Given the description of an element on the screen output the (x, y) to click on. 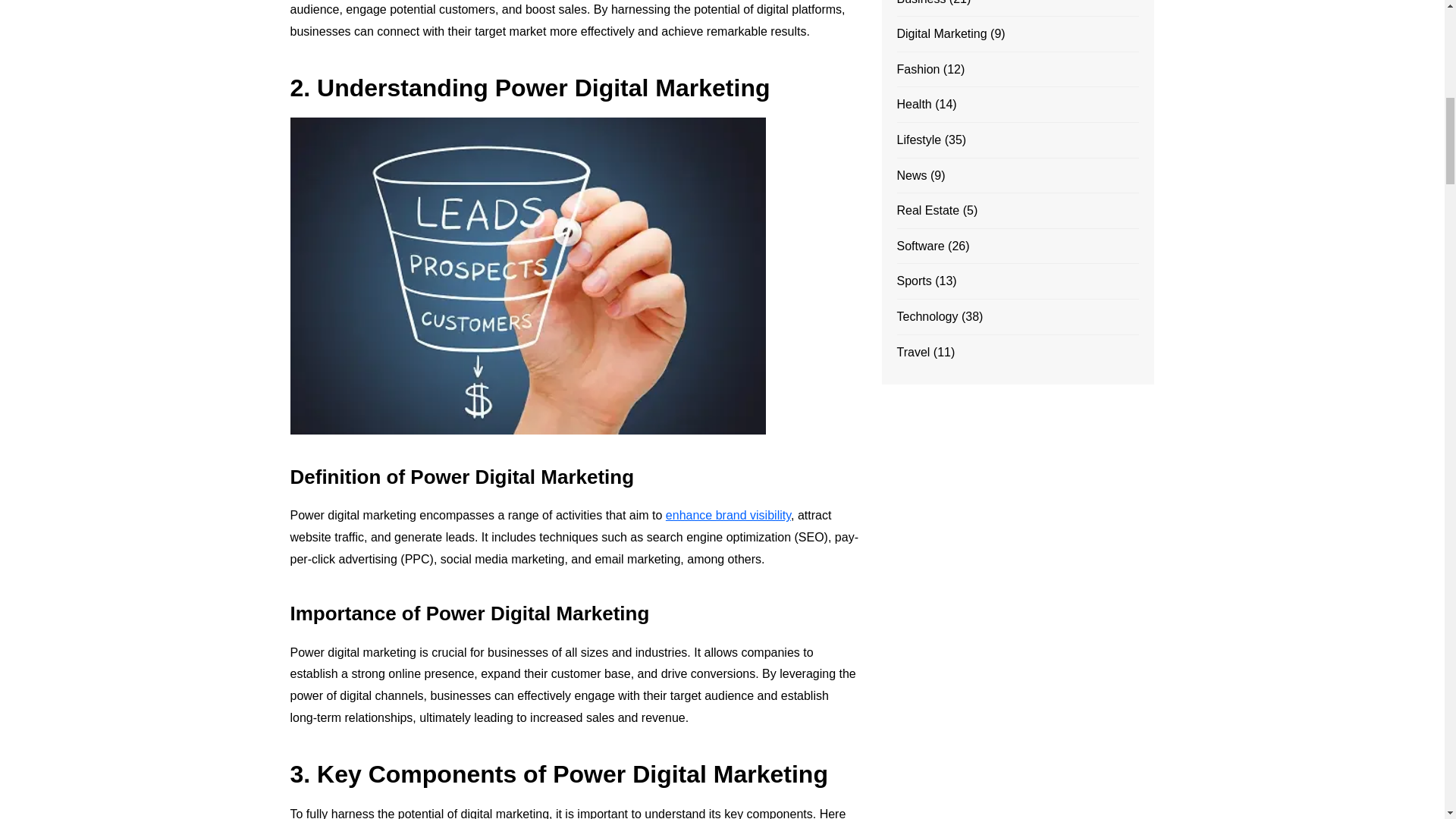
enhance brand visibility (727, 514)
